Given the description of an element on the screen output the (x, y) to click on. 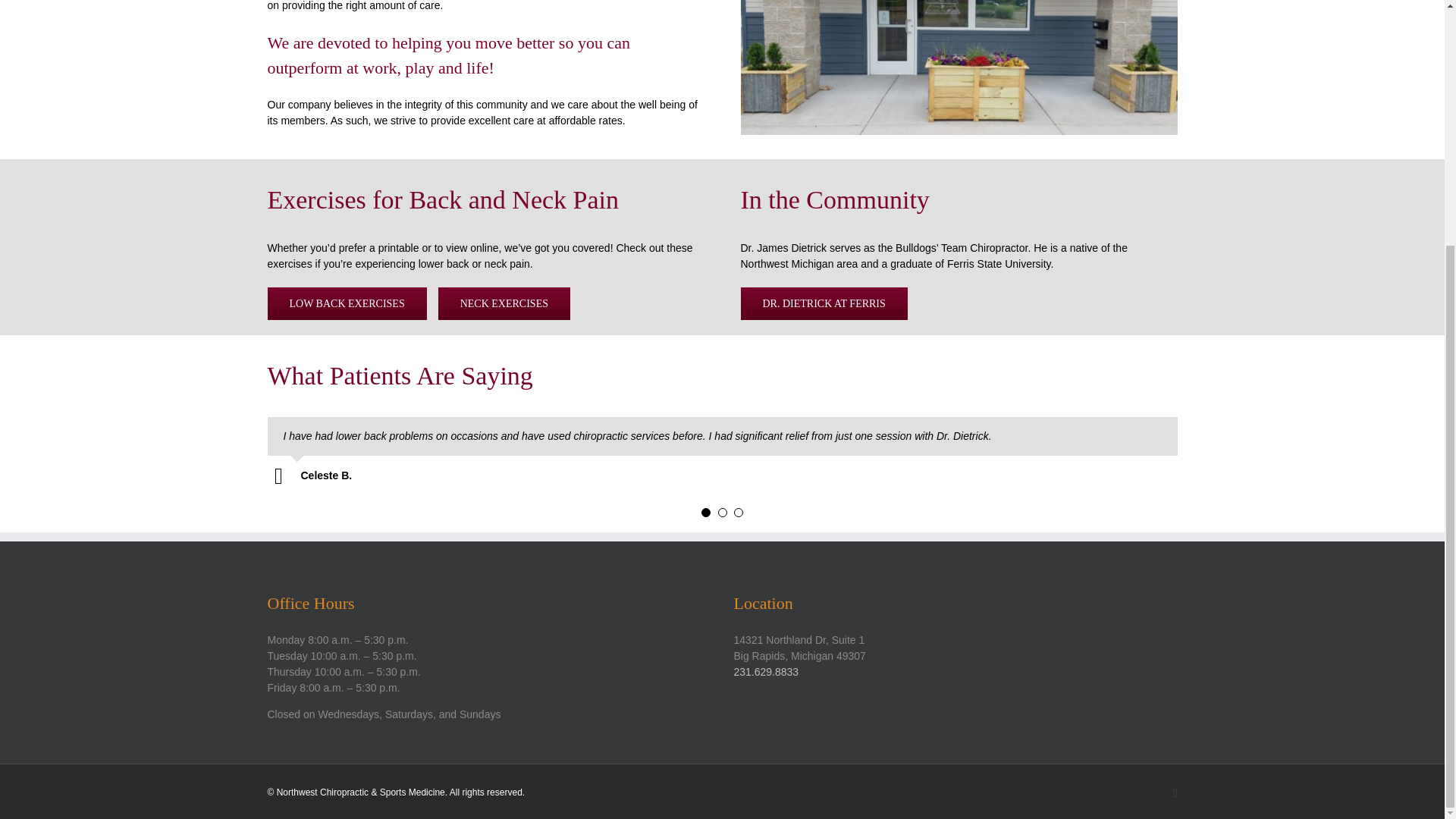
231.629.8833 (766, 671)
LOW BACK EXERCISES (346, 303)
DR. DIETRICK AT FERRIS (823, 303)
NECK EXERCISES (504, 303)
